Given the description of an element on the screen output the (x, y) to click on. 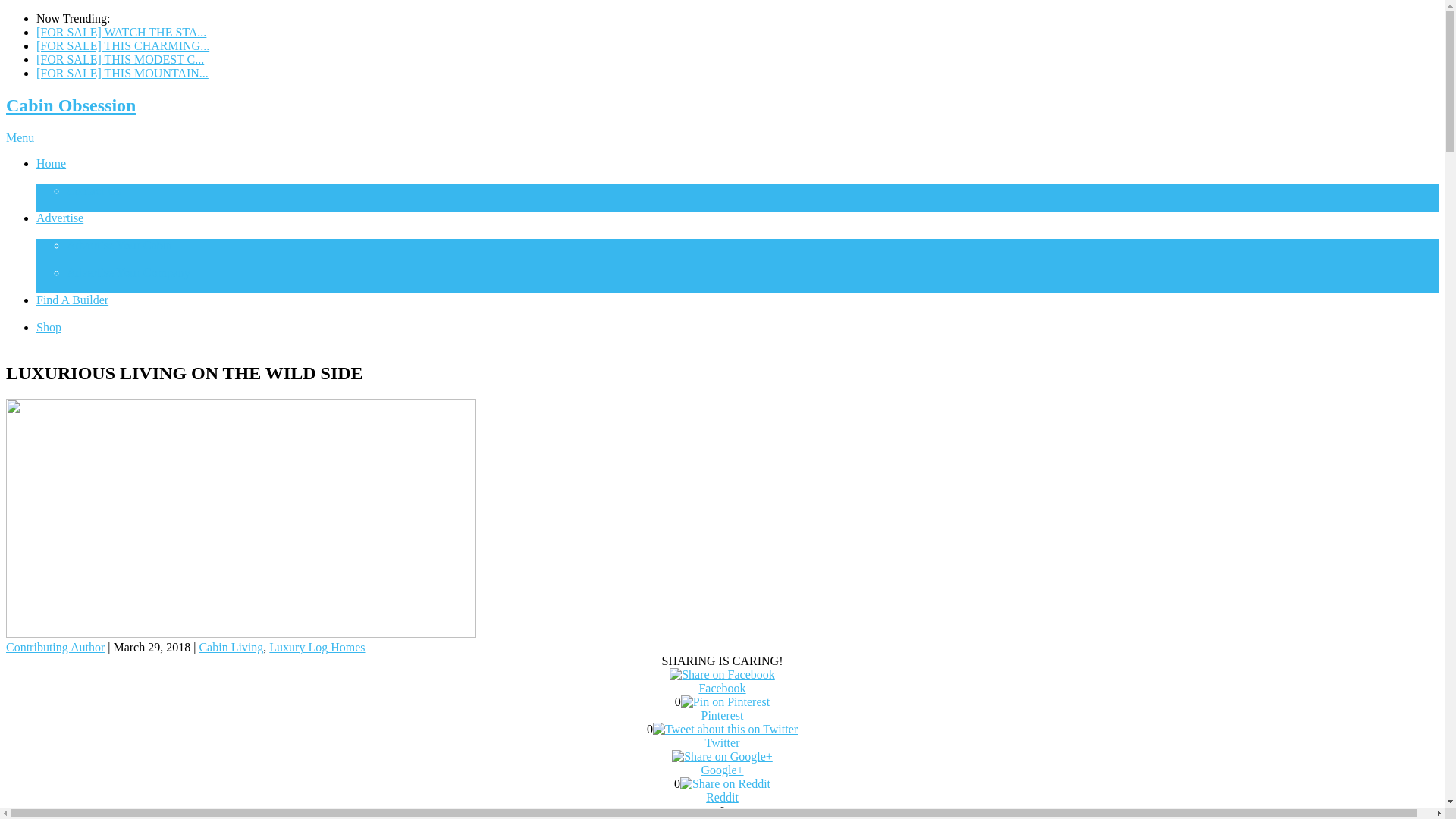
Facebook (721, 688)
Twitter (724, 729)
Advertise Your Cabin (118, 236)
Posts by Contributing Author (54, 646)
Contact Us (93, 181)
Cabin Obsession (70, 105)
Pinterest (721, 715)
Twitter (721, 742)
Reddit (721, 797)
